Given the description of an element on the screen output the (x, y) to click on. 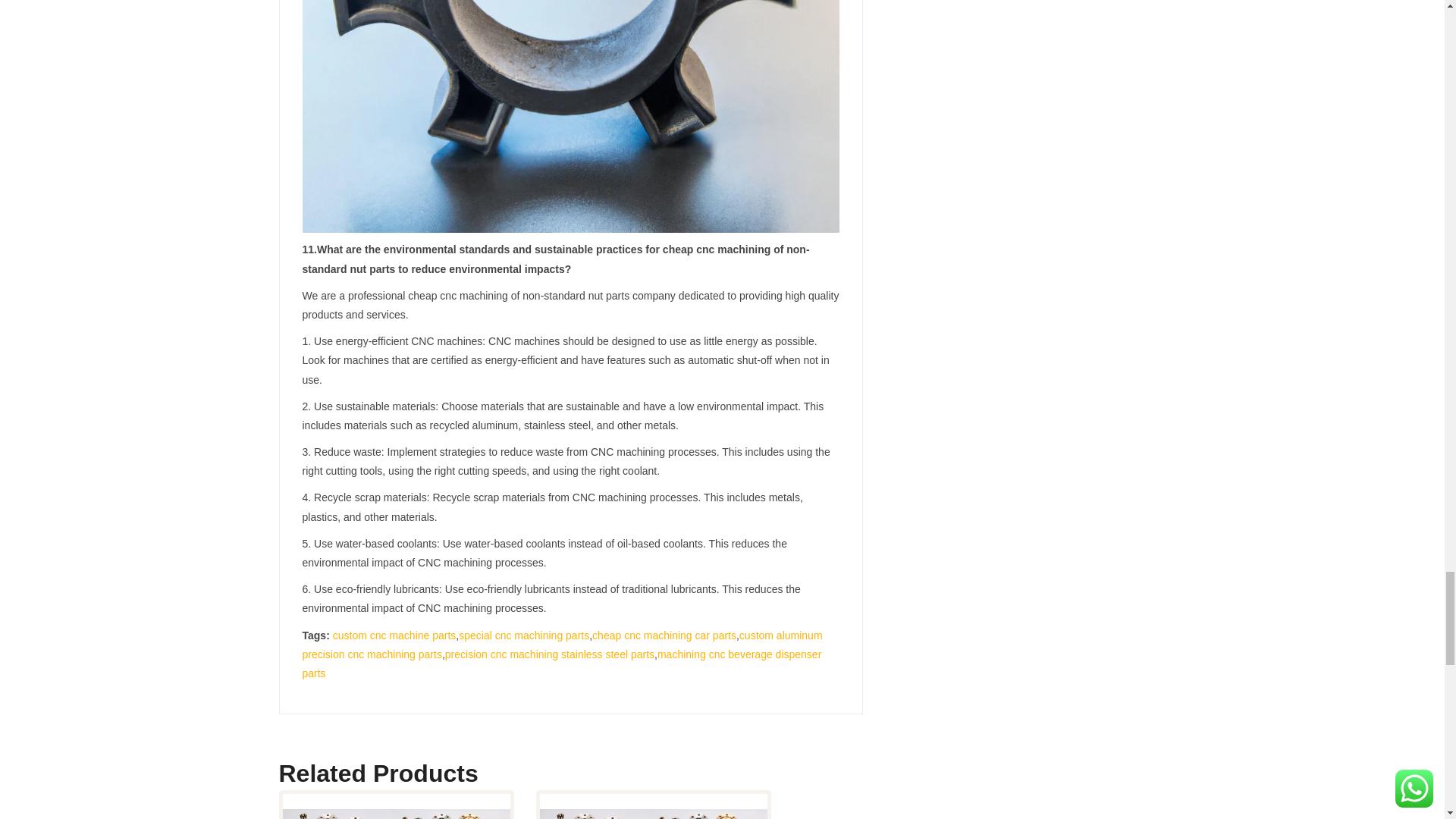
5 axis cnc machining parts (653, 814)
90000 cnc lathe machine parts (395, 814)
